Given the description of an element on the screen output the (x, y) to click on. 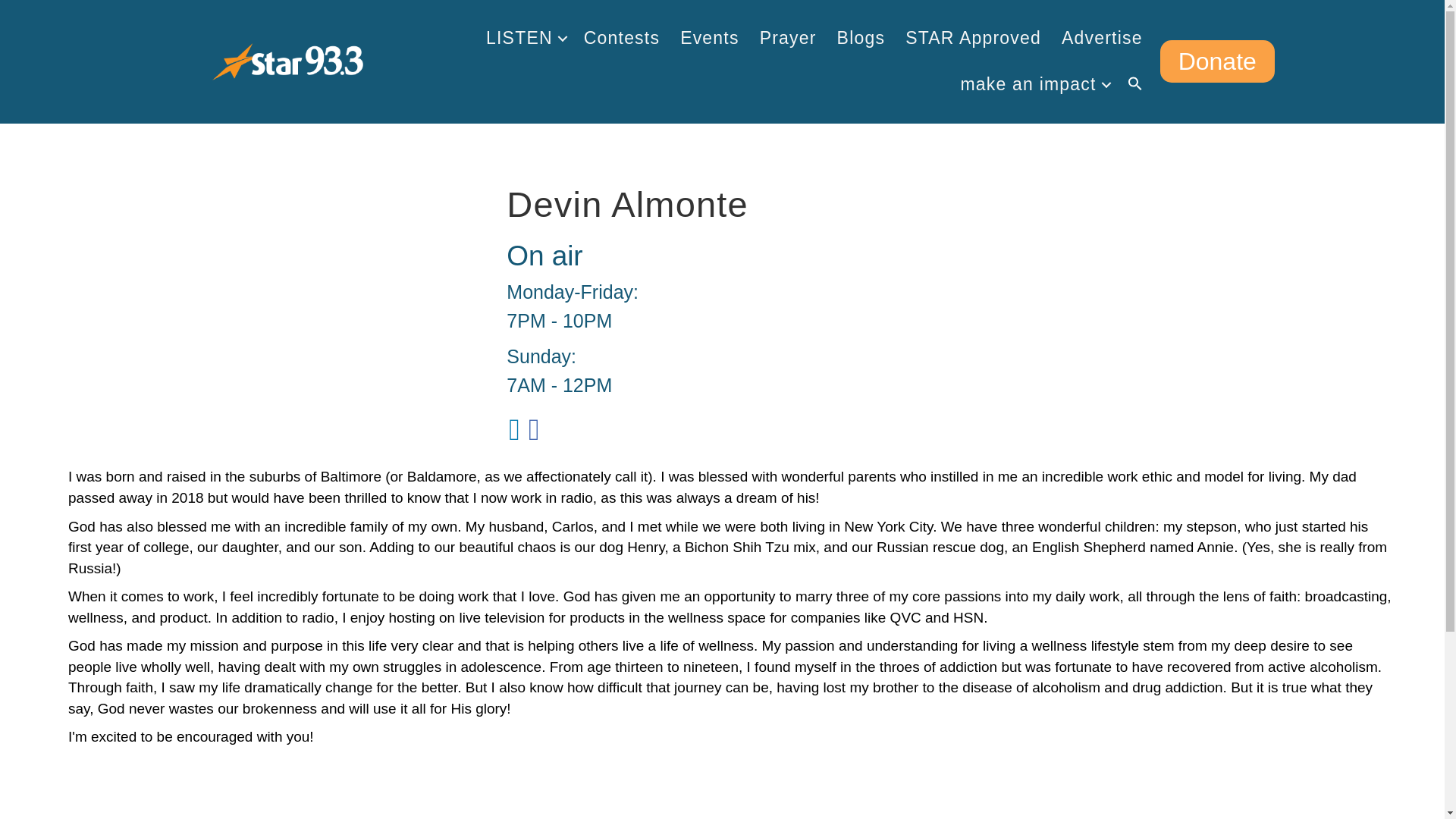
make an impact (1033, 84)
Events (709, 38)
STAR Approved (973, 38)
Go back (131, 817)
Advertise (1102, 38)
Prayer (788, 38)
Donate (1217, 61)
LISTEN (524, 38)
Blogs (861, 38)
Contests (621, 38)
